Given the description of an element on the screen output the (x, y) to click on. 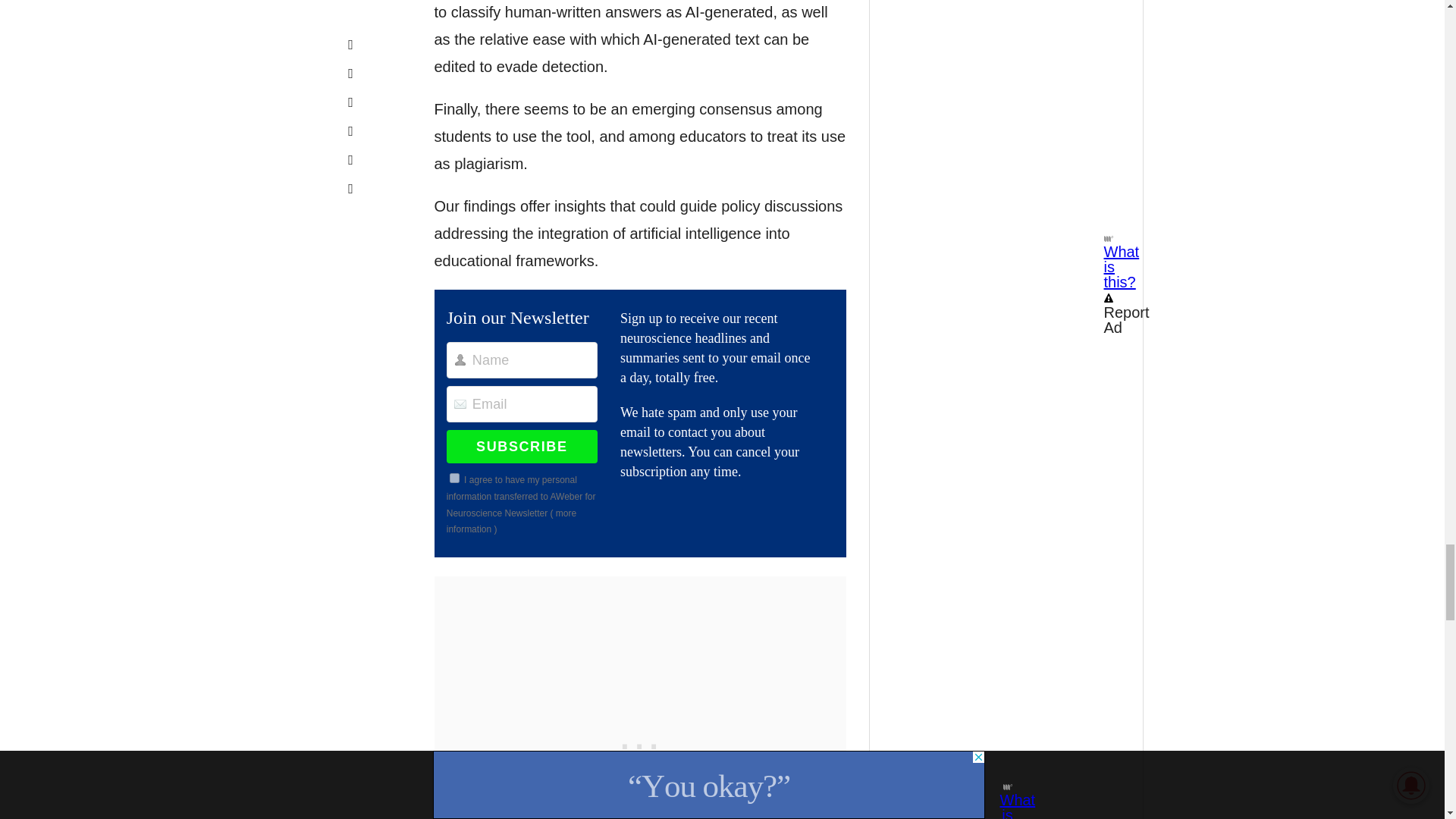
SUBSCRIBE (521, 446)
SUBSCRIBE (521, 446)
more information (511, 521)
on (454, 478)
